Given the description of an element on the screen output the (x, y) to click on. 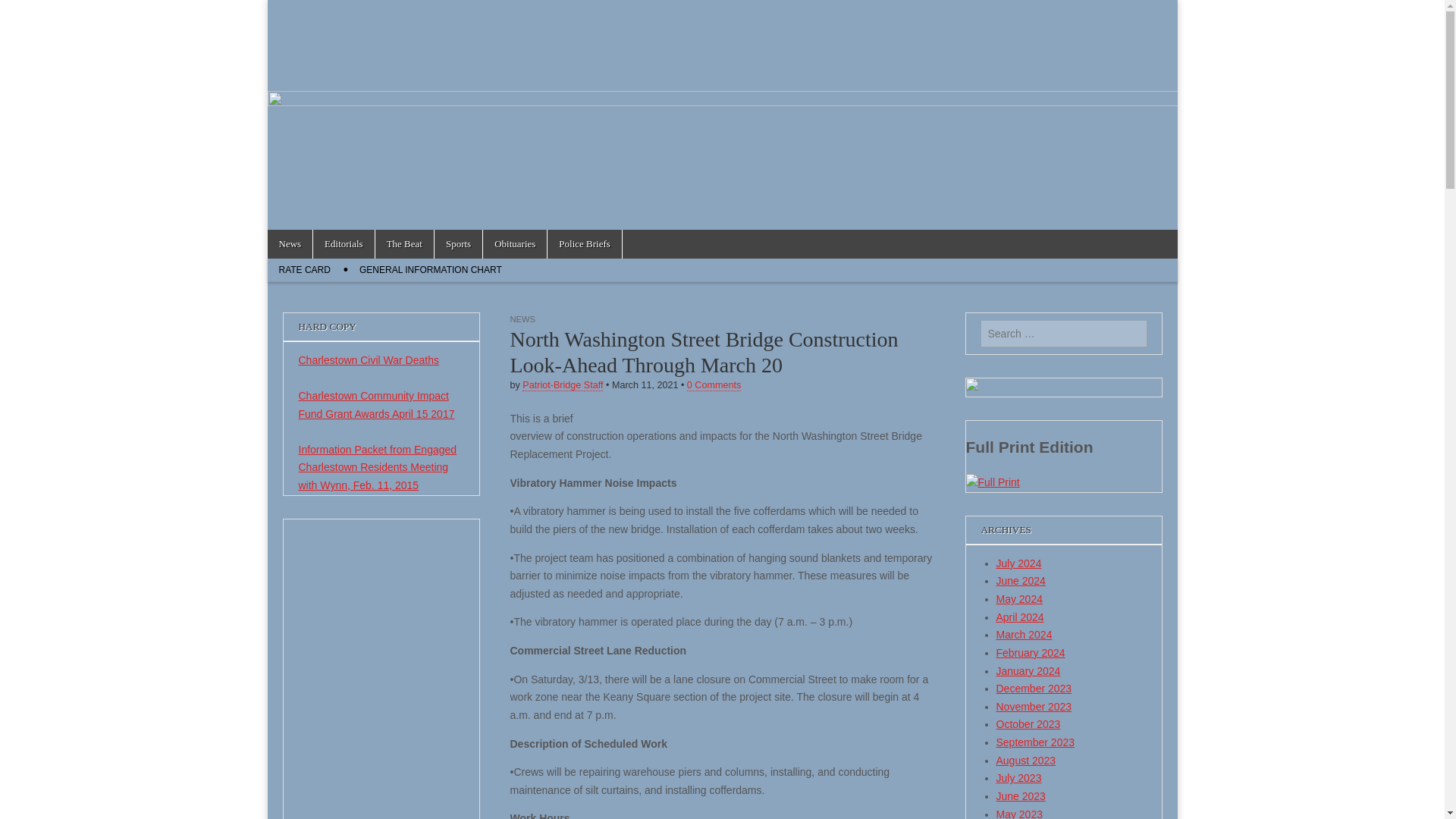
Patriot-Bridge Staff (562, 385)
Police Briefs (584, 244)
Editorials (343, 244)
Sports (457, 244)
GENERAL INFORMATION CHART (430, 269)
Charlestown Civil War Deaths (368, 359)
Posts by Patriot-Bridge Staff (562, 385)
Obituaries (515, 244)
0 Comments (714, 385)
NEWS (522, 318)
Search (23, 12)
RATE CARD (303, 269)
The Beat (404, 244)
Charlestown Community Impact Fund Grant Awards April 15 2017 (376, 404)
